Given the description of an element on the screen output the (x, y) to click on. 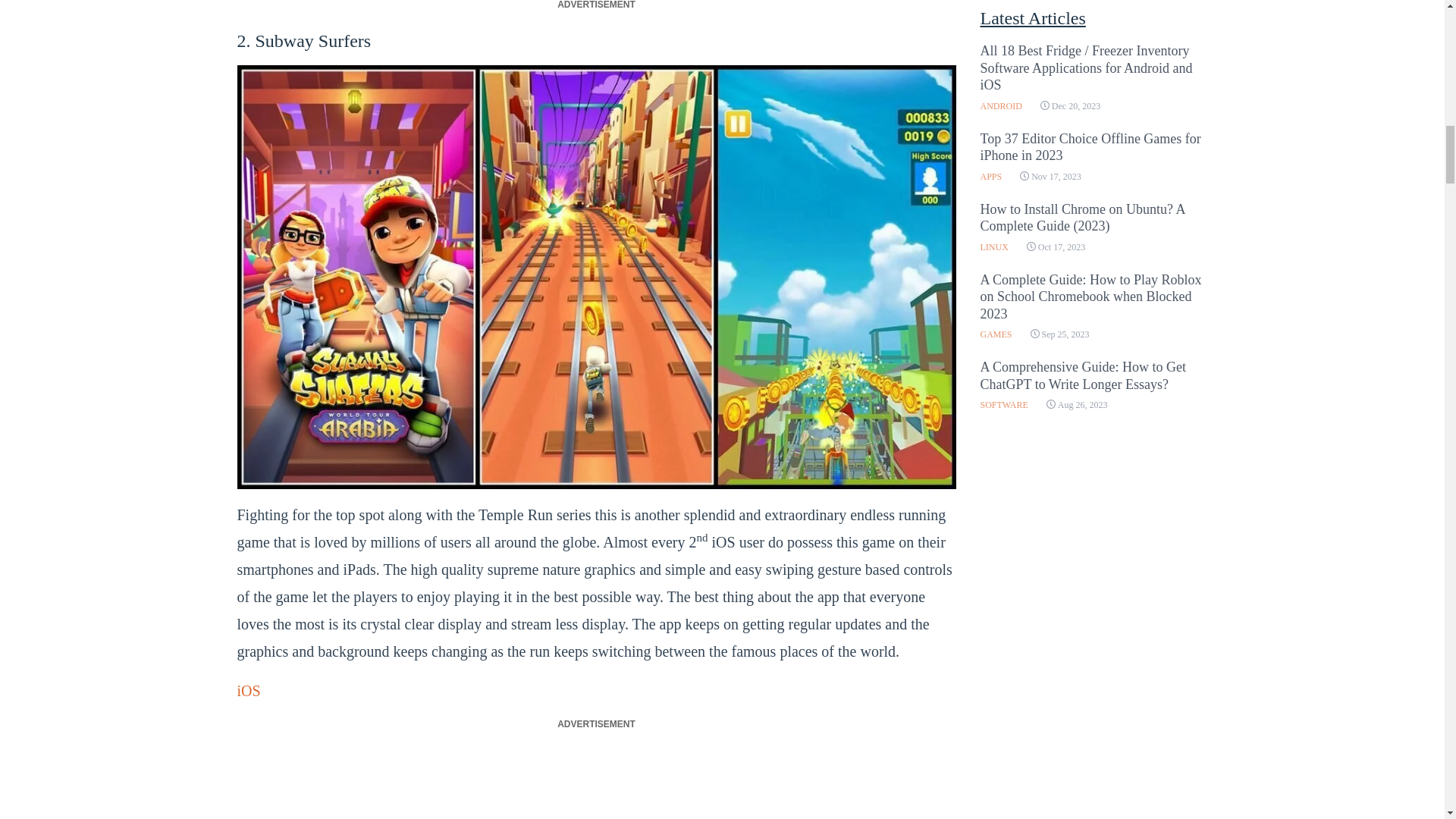
iOS (247, 690)
Advertisement (595, 779)
